Given the description of an element on the screen output the (x, y) to click on. 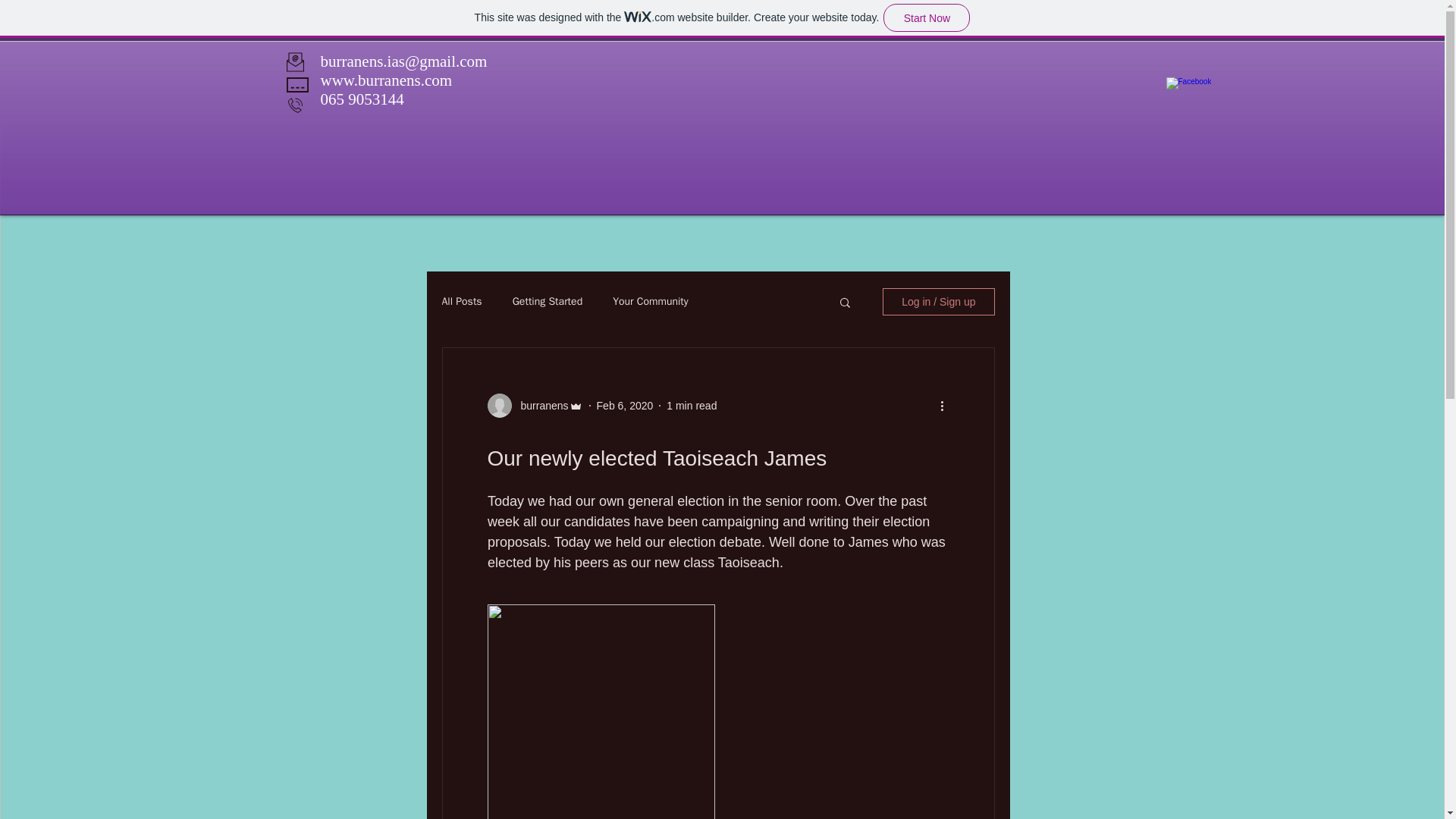
All Posts (461, 301)
1 min read (691, 404)
Getting Started (547, 301)
burranens (539, 405)
www.burranens.com (385, 80)
Feb 6, 2020 (624, 404)
